Given the description of an element on the screen output the (x, y) to click on. 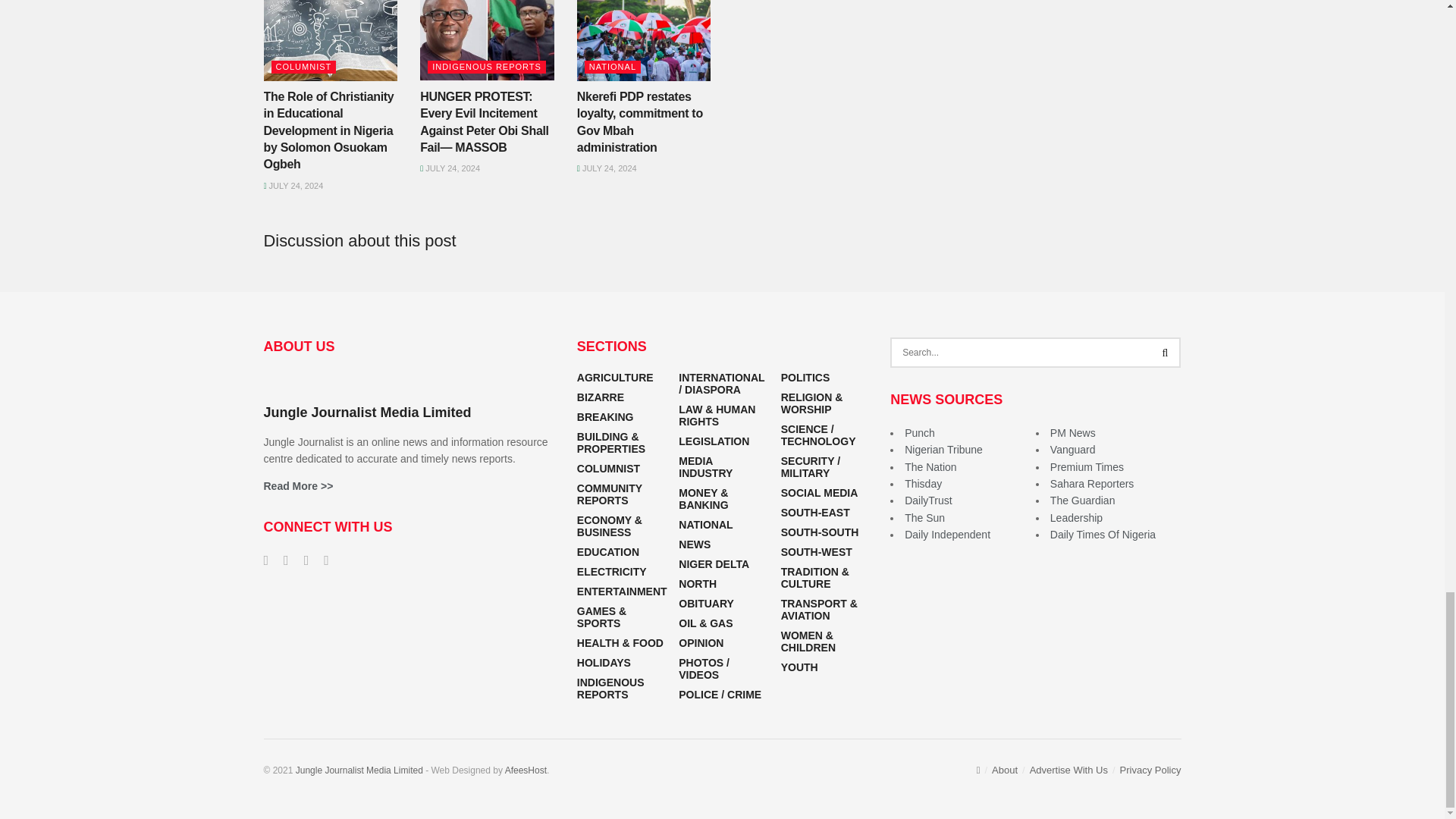
Jungle Journalist Media Limited (359, 769)
Web Hosting (526, 769)
About Jungle Journalist Media Limited (298, 485)
